Given the description of an element on the screen output the (x, y) to click on. 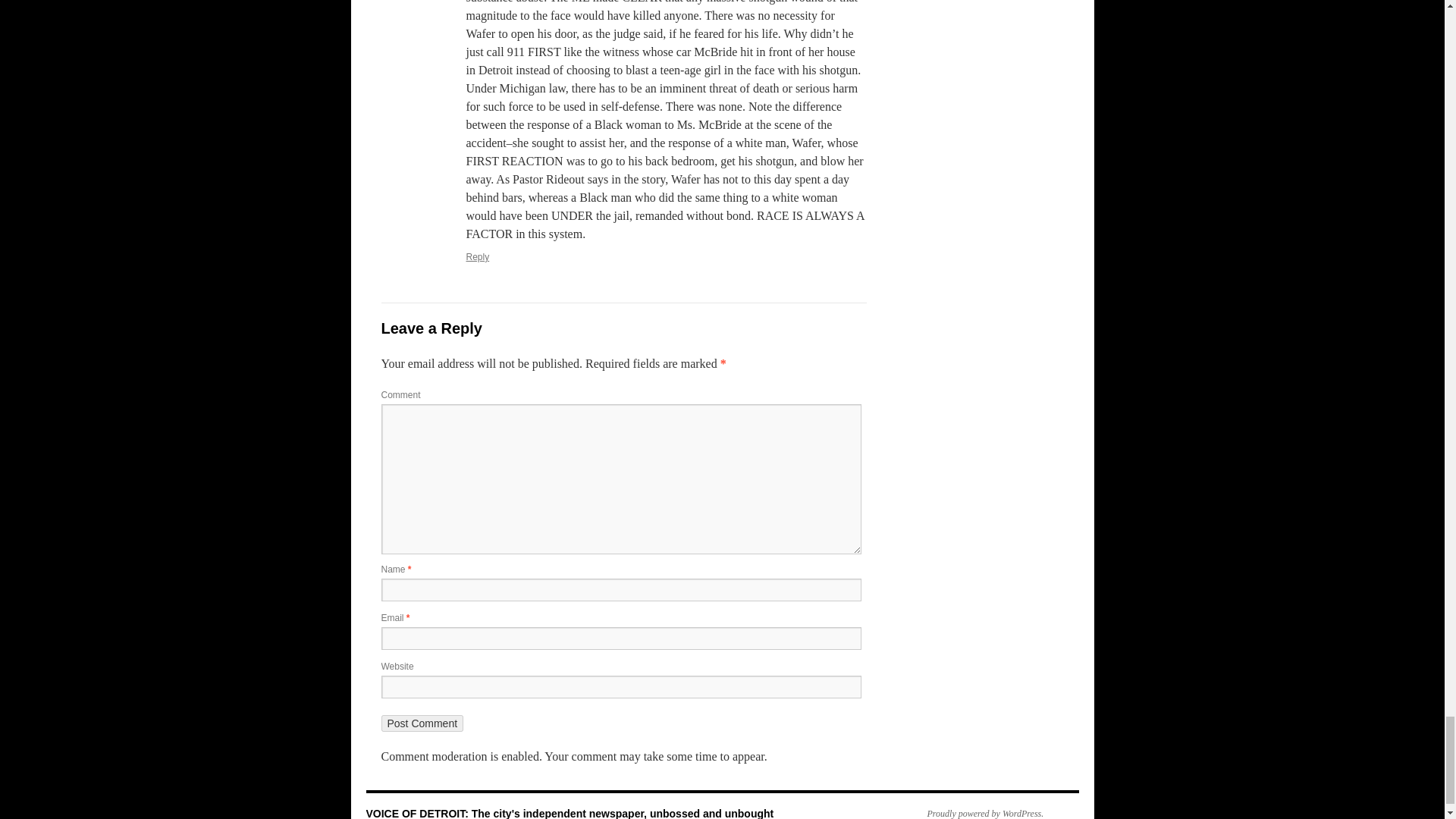
Post Comment (421, 723)
